Given the description of an element on the screen output the (x, y) to click on. 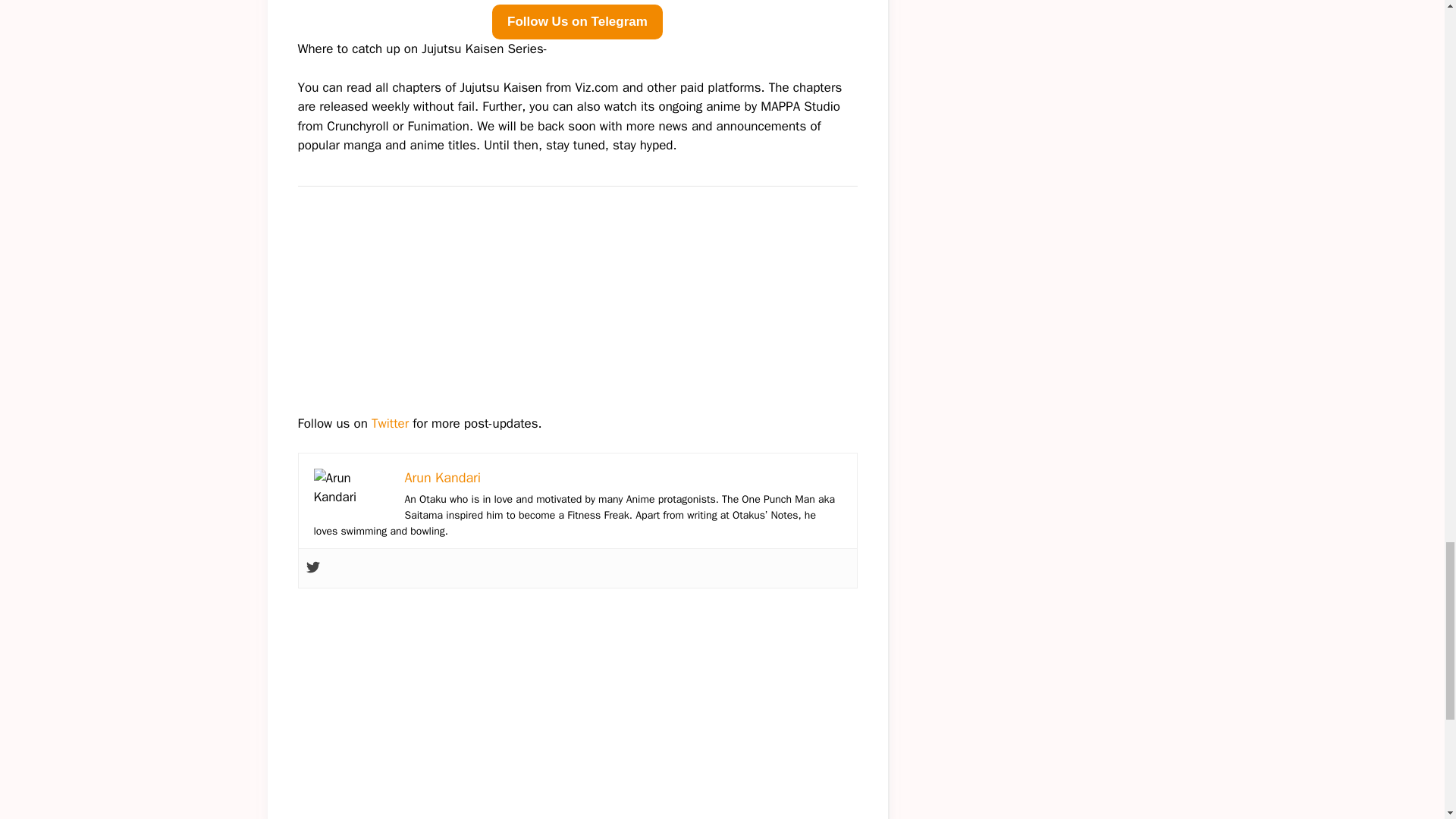
Twitter (390, 423)
Arun Kandari (442, 477)
Follow Us on Telegram (577, 21)
